Given the description of an element on the screen output the (x, y) to click on. 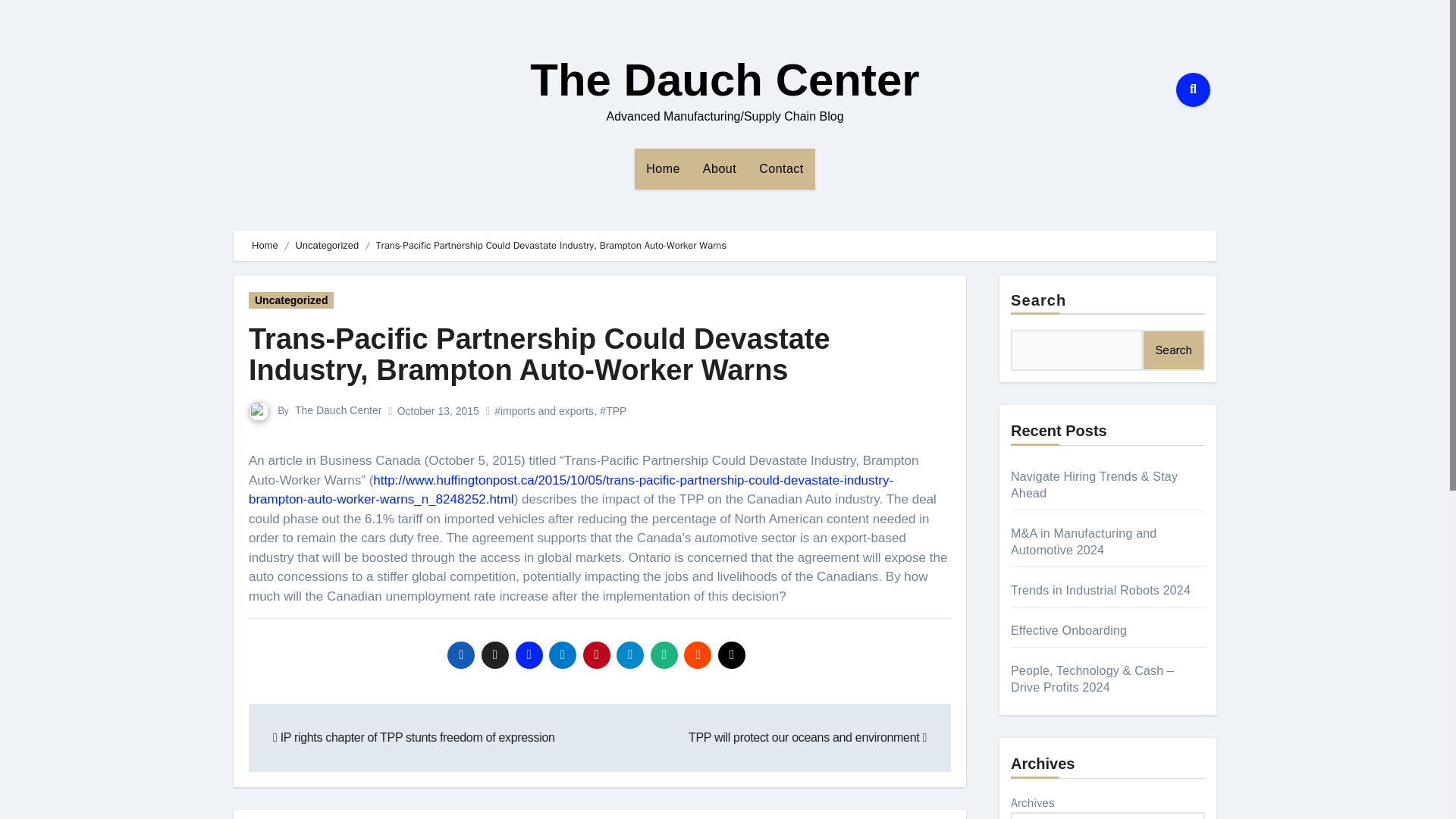
October 13, 2015 (438, 410)
Contact (781, 168)
Home (662, 168)
TPP will protect our oceans and environment (807, 737)
Home (662, 168)
The Dauch Center (338, 410)
Uncategorized (290, 299)
About (719, 168)
IP rights chapter of TPP stunts freedom of expression (413, 737)
The Dauch Center (723, 79)
Home (264, 244)
Uncategorized (326, 244)
